Given the description of an element on the screen output the (x, y) to click on. 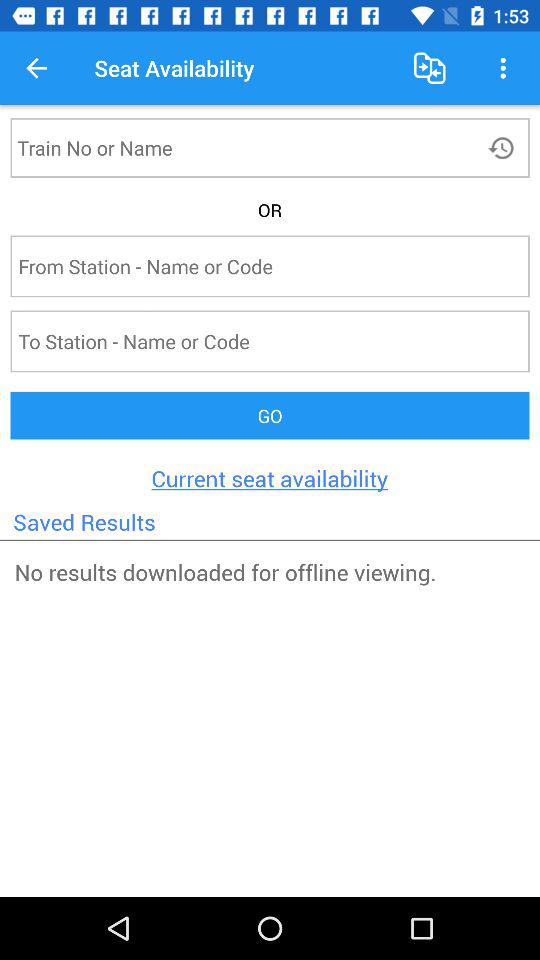
enter text (237, 266)
